Given the description of an element on the screen output the (x, y) to click on. 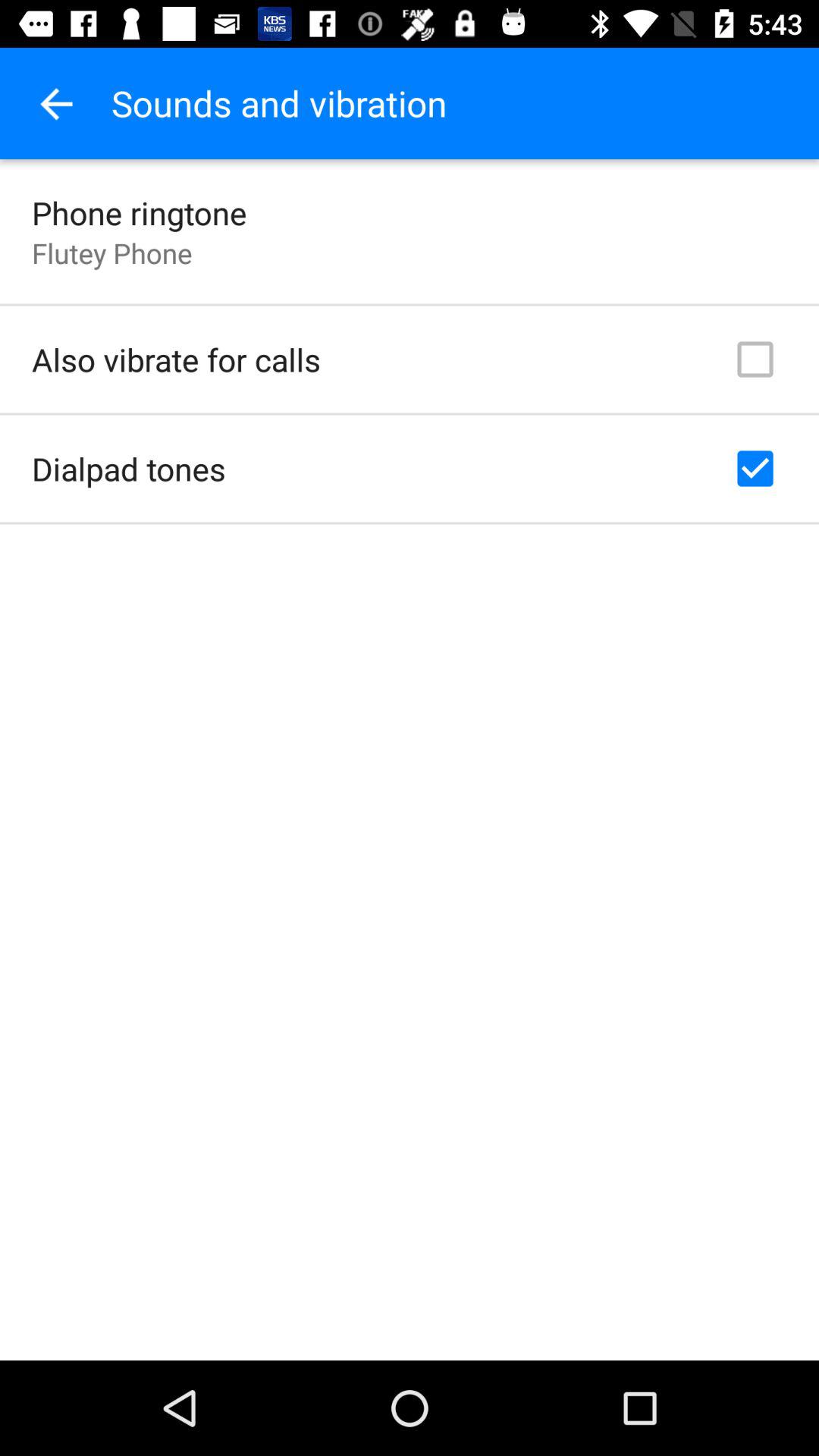
turn off the item above also vibrate for item (111, 252)
